Given the description of an element on the screen output the (x, y) to click on. 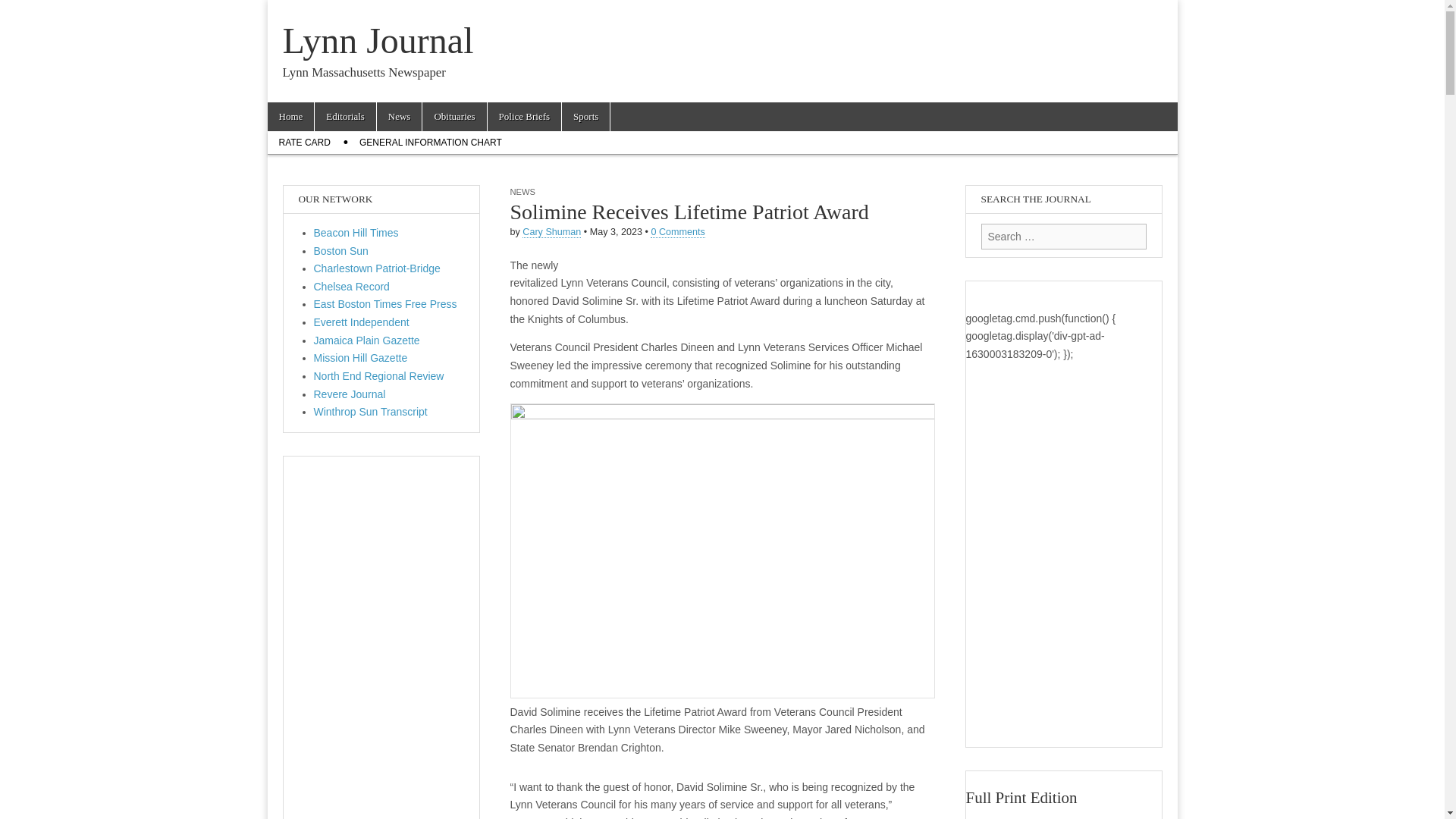
Everett Independent (361, 322)
Obituaries (454, 116)
Lynn Journal (377, 40)
East Boston Times Free Press (385, 304)
Sports (586, 116)
North End Regional Review (379, 376)
Charlestown Patriot-Bridge (377, 268)
Lynn Journal (377, 40)
Chelsea Record (352, 286)
Home (290, 116)
Posts by Cary Shuman (551, 232)
RATE CARD (303, 142)
GENERAL INFORMATION CHART (430, 142)
Winthrop Sun Transcript (371, 411)
Cary Shuman (551, 232)
